Given the description of an element on the screen output the (x, y) to click on. 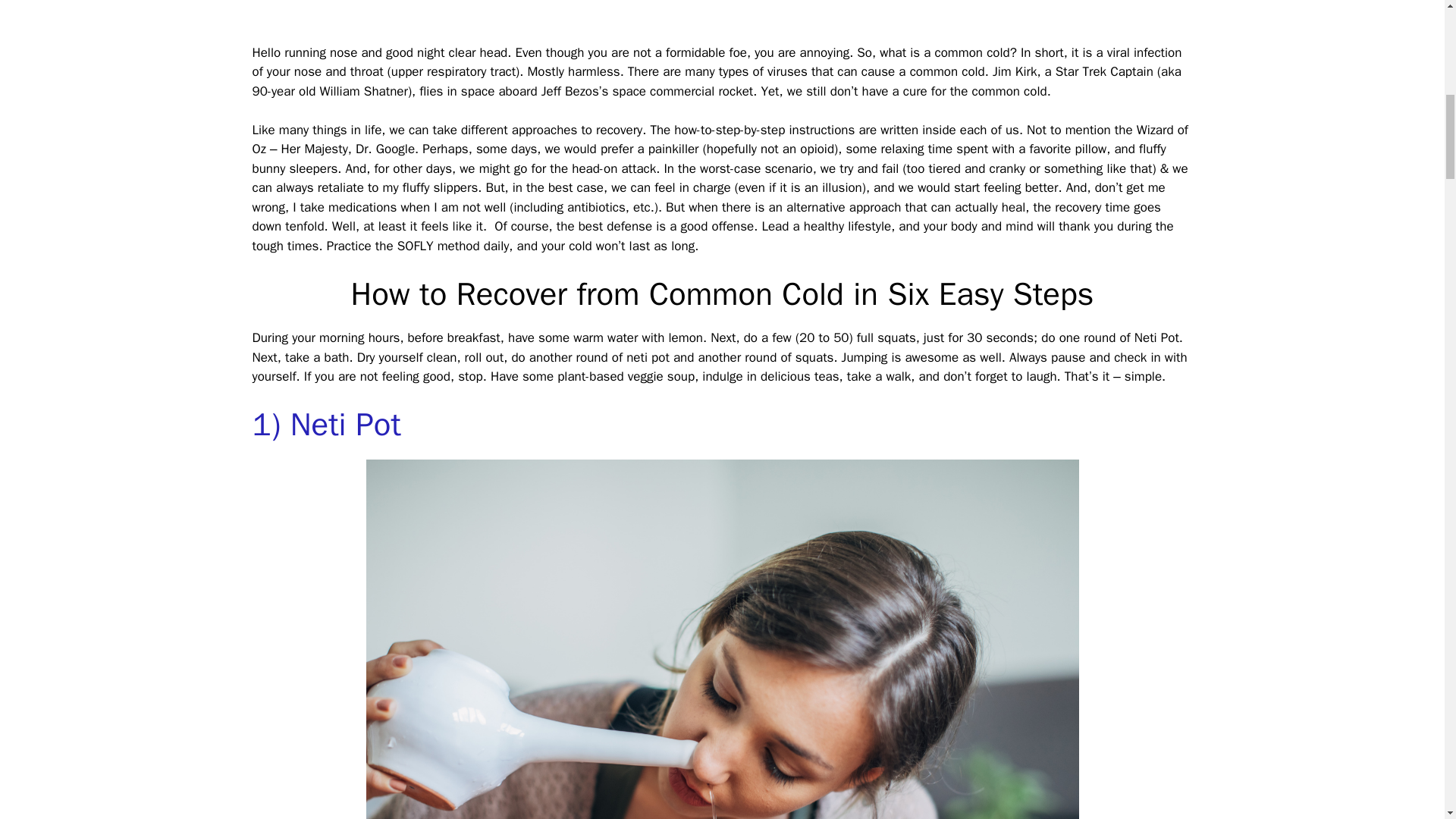
Scroll back to top (1406, 720)
